Given the description of an element on the screen output the (x, y) to click on. 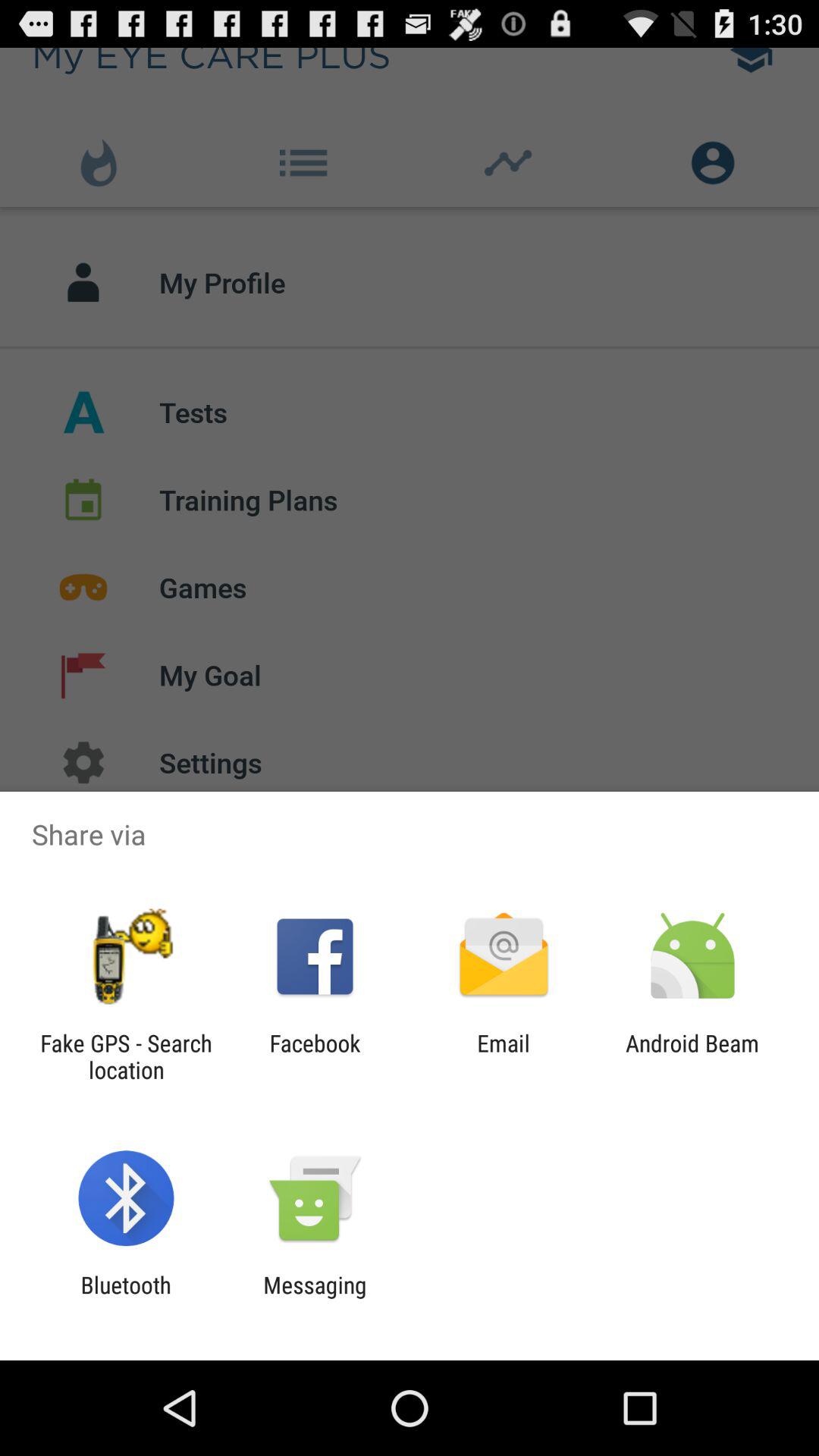
press facebook app (314, 1056)
